Given the description of an element on the screen output the (x, y) to click on. 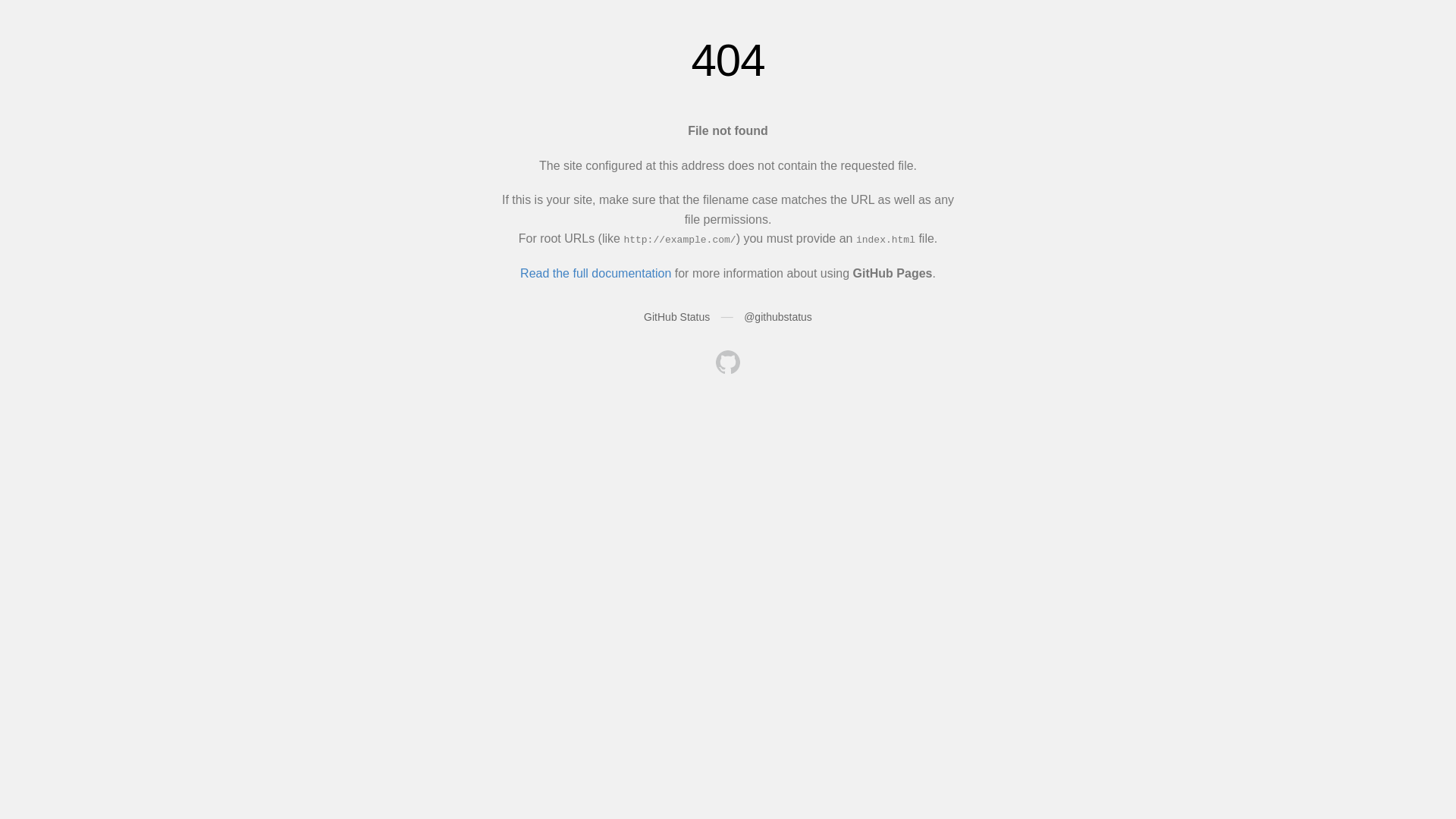
GitHub Status Element type: text (676, 316)
Read the full documentation Element type: text (595, 272)
@githubstatus Element type: text (777, 316)
